Given the description of an element on the screen output the (x, y) to click on. 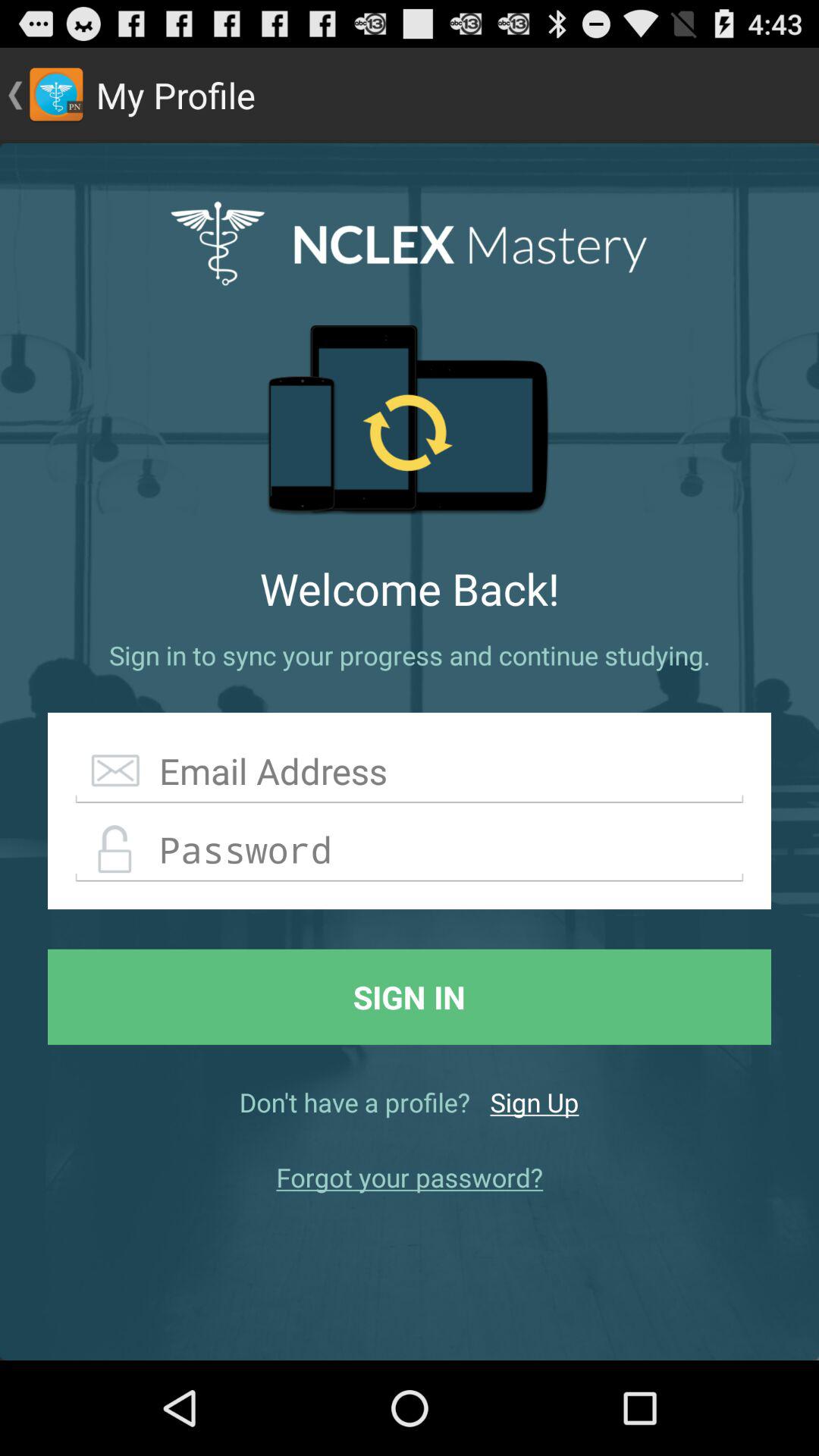
enter email address (409, 771)
